Given the description of an element on the screen output the (x, y) to click on. 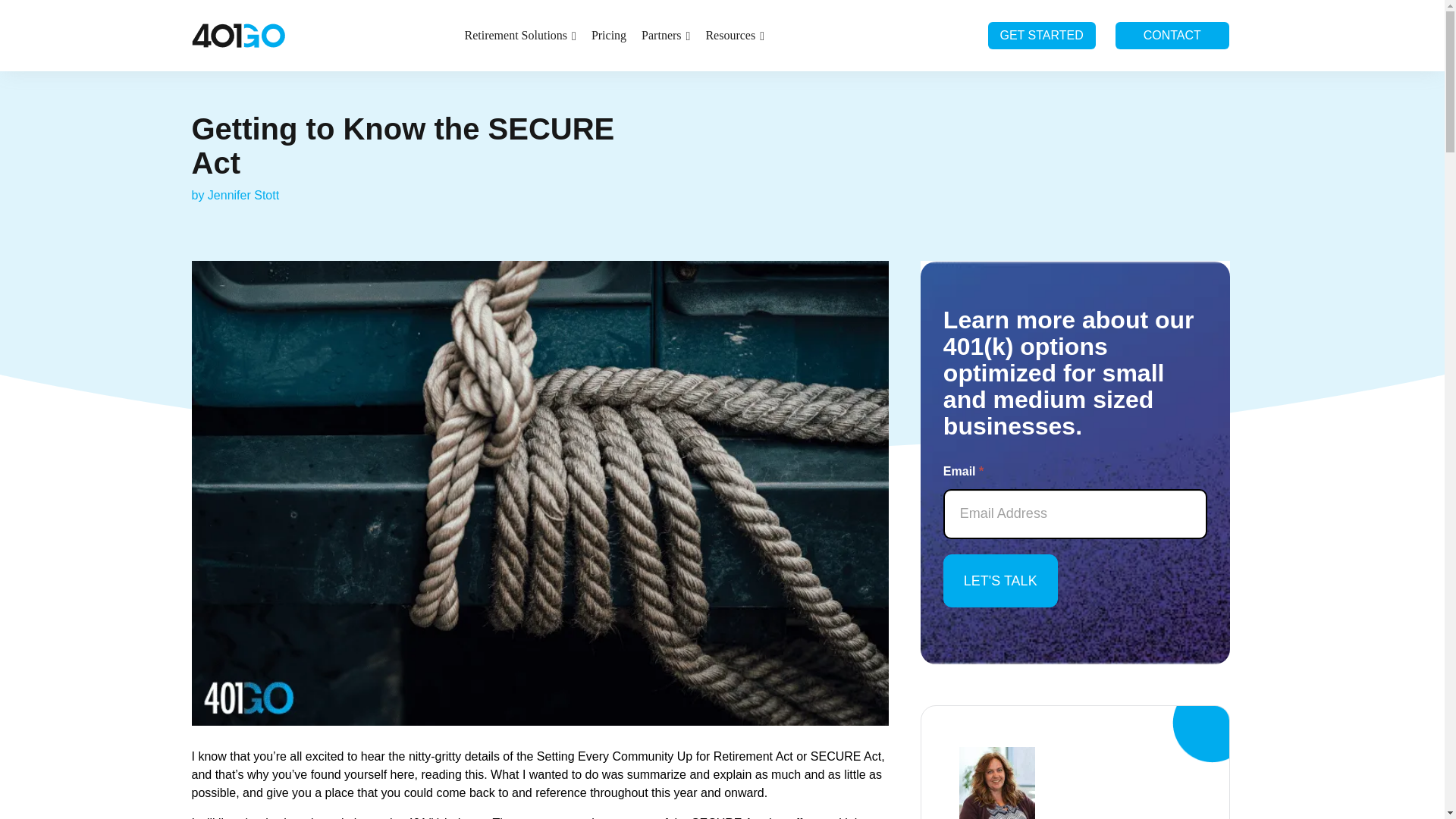
Posts by Jennifer Stott (243, 195)
Retirement Solutions (520, 35)
Jennifer Stott (243, 195)
Pricing (608, 35)
GET STARTED (1040, 35)
Resources (734, 35)
CONTACT (1171, 35)
Partners (665, 35)
